Given the description of an element on the screen output the (x, y) to click on. 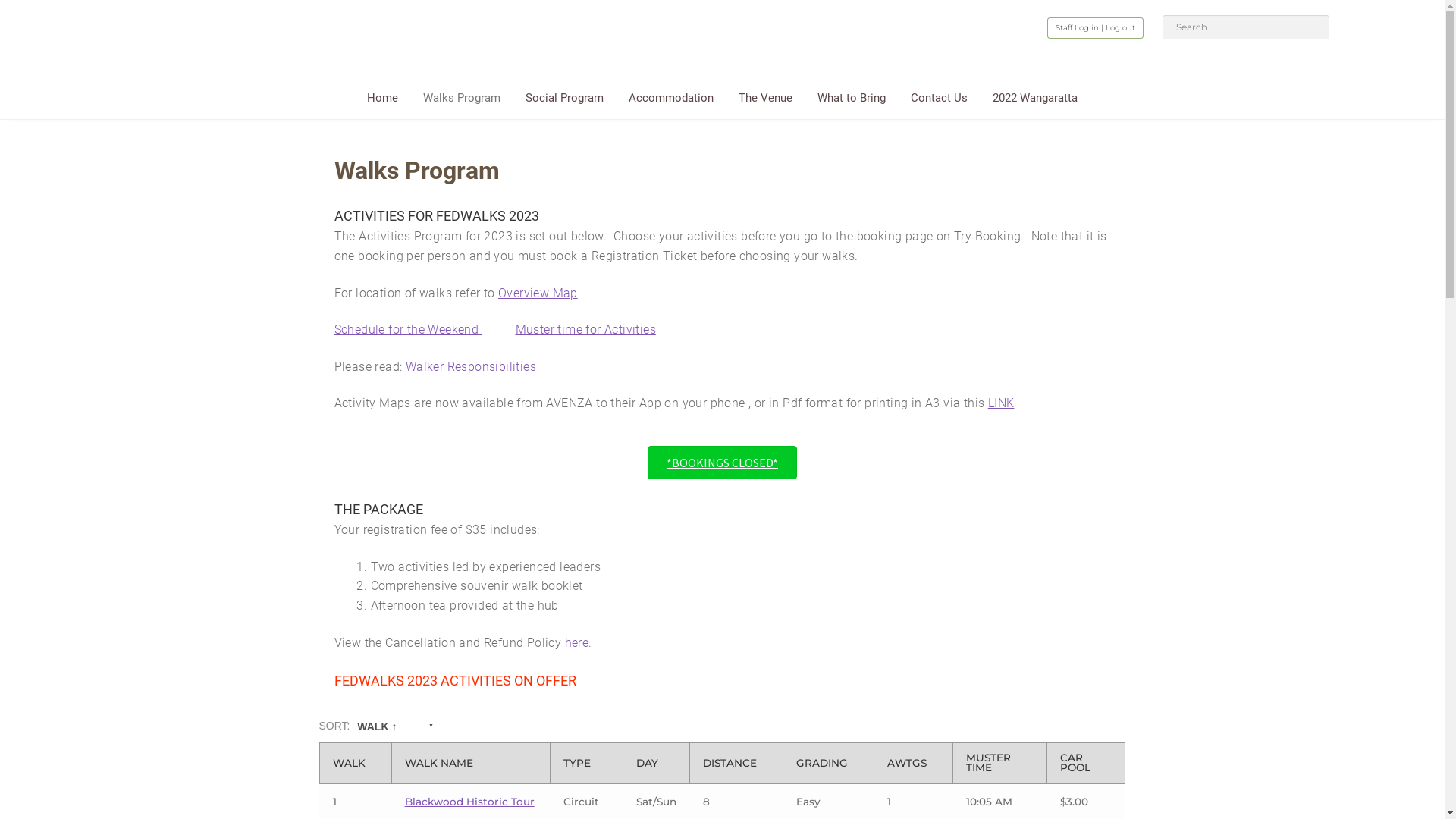
Muster time for Activities Element type: text (585, 329)
MUSTER TIME Element type: text (999, 763)
Home Element type: text (382, 101)
CAR POOL Element type: text (1086, 763)
Contact Us Element type: text (938, 101)
DISTANCE Element type: text (735, 763)
Accommodation Element type: text (670, 101)
DAY Element type: text (656, 763)
here Element type: text (576, 642)
Schedule for the Weekend  Element type: text (408, 329)
AWTGS Element type: text (913, 763)
WALK Element type: text (355, 763)
TYPE Element type: text (586, 763)
2022 Wangaratta Element type: text (1034, 101)
WALK NAME Element type: text (470, 763)
Walker Responsibilities Element type: text (470, 366)
The Venue Element type: text (765, 101)
*BOOKINGS CLOSED* Element type: text (722, 462)
LINK Element type: text (1001, 402)
Walks Program Element type: text (461, 101)
What to Bring Element type: text (851, 101)
Staff Log in | Log out Element type: text (1095, 27)
Social Program Element type: text (564, 101)
Overview Map Element type: text (537, 292)
Blackwood Historic Tour Element type: text (469, 801)
GRADING Element type: text (828, 763)
